Given the description of an element on the screen output the (x, y) to click on. 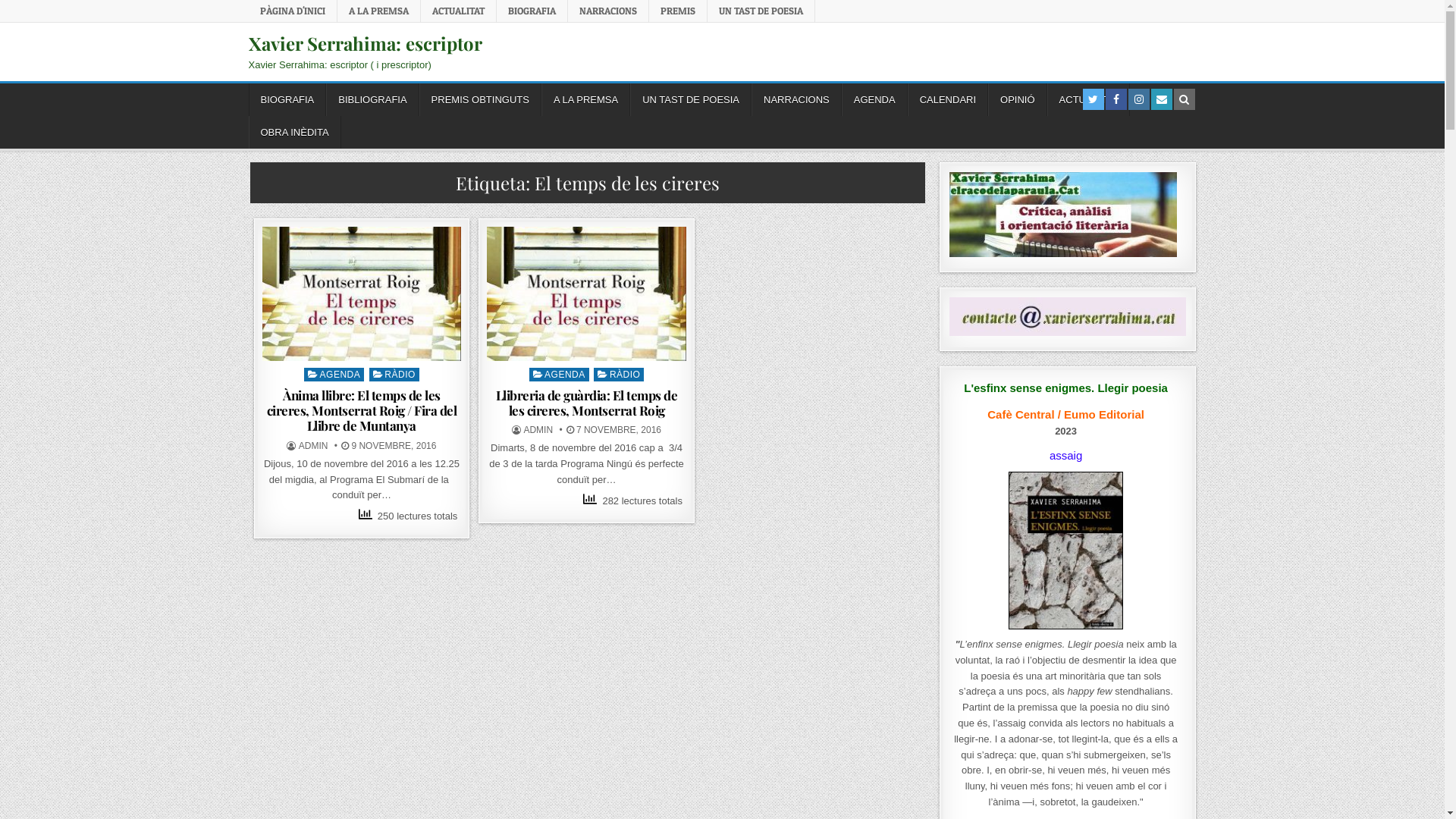
Instagram Element type: hover (1138, 99)
ADMIN Element type: text (313, 445)
Twitter Element type: hover (1093, 99)
AGENDA Element type: text (874, 99)
A LA PREMSA Element type: text (378, 10)
ACTUALITAT Element type: text (457, 10)
UN TAST DE POESIA Element type: text (760, 10)
UN TAST DE POESIA Element type: text (690, 99)
AGENDA Element type: text (334, 374)
BIBLIOGRAFIA Element type: text (372, 99)
PREMIS Element type: text (678, 10)
NARRACIONS Element type: text (607, 10)
Email Us Element type: hover (1160, 99)
Xavier Serrahima: escriptor Element type: text (365, 43)
ADMIN Element type: text (537, 429)
ACTUALITAT Element type: text (1088, 99)
BIOGRAFIA Element type: text (531, 10)
NARRACIONS Element type: text (796, 99)
CALENDARI Element type: text (947, 99)
Facebook Element type: hover (1116, 99)
A LA PREMSA Element type: text (585, 99)
PREMIS OBTINGUTS Element type: text (480, 99)
BIOGRAFIA Element type: text (287, 99)
Search Element type: hover (1184, 99)
AGENDA Element type: text (559, 374)
